Given the description of an element on the screen output the (x, y) to click on. 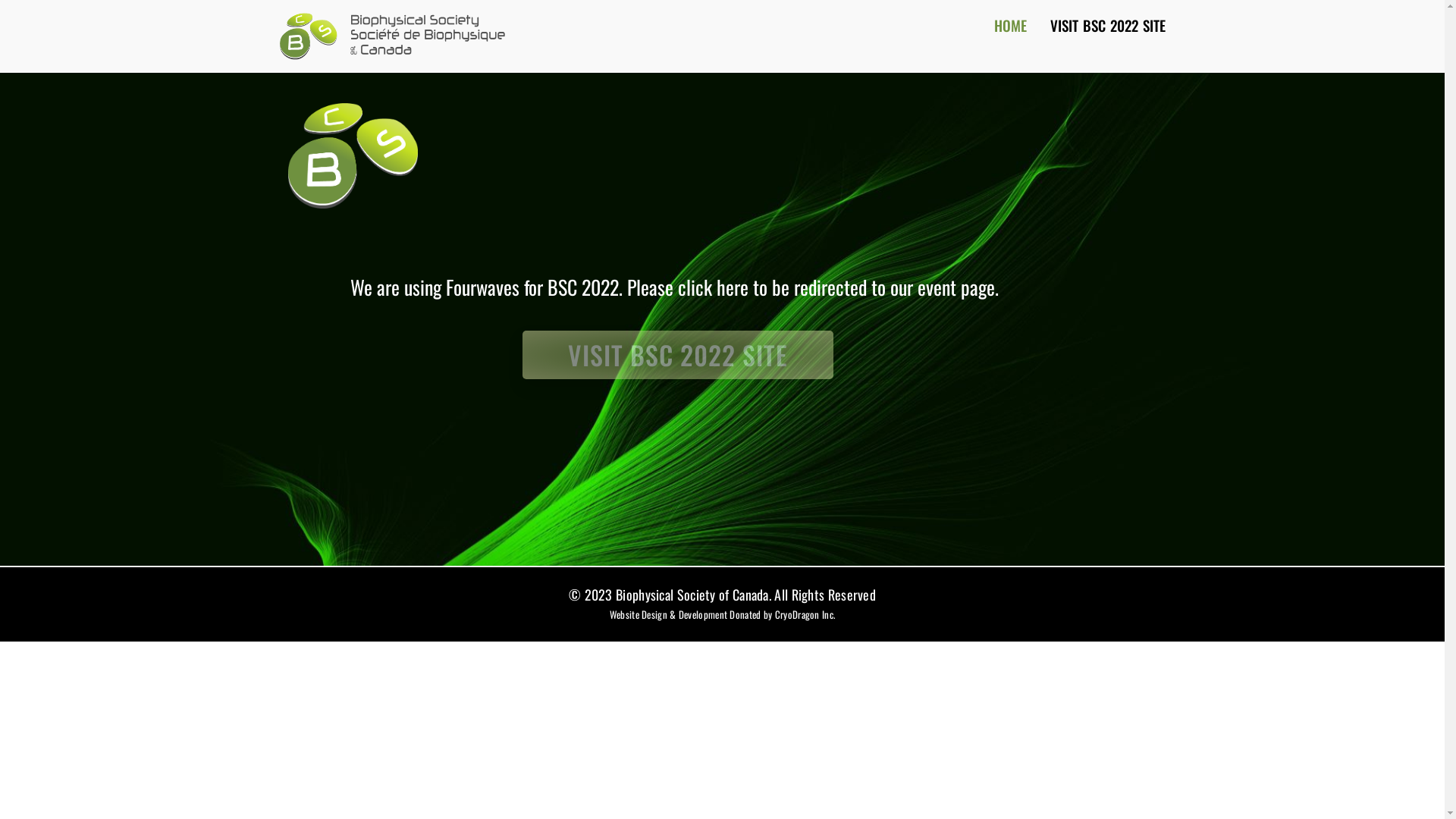
HOME Element type: text (1010, 25)
CryoDragon Inc. Element type: text (805, 613)
VISIT BSC 2022 SITE Element type: text (676, 354)
VISIT BSC 2022 SITE Element type: text (1108, 25)
Biophysical Society of Canada Element type: text (691, 594)
